Given the description of an element on the screen output the (x, y) to click on. 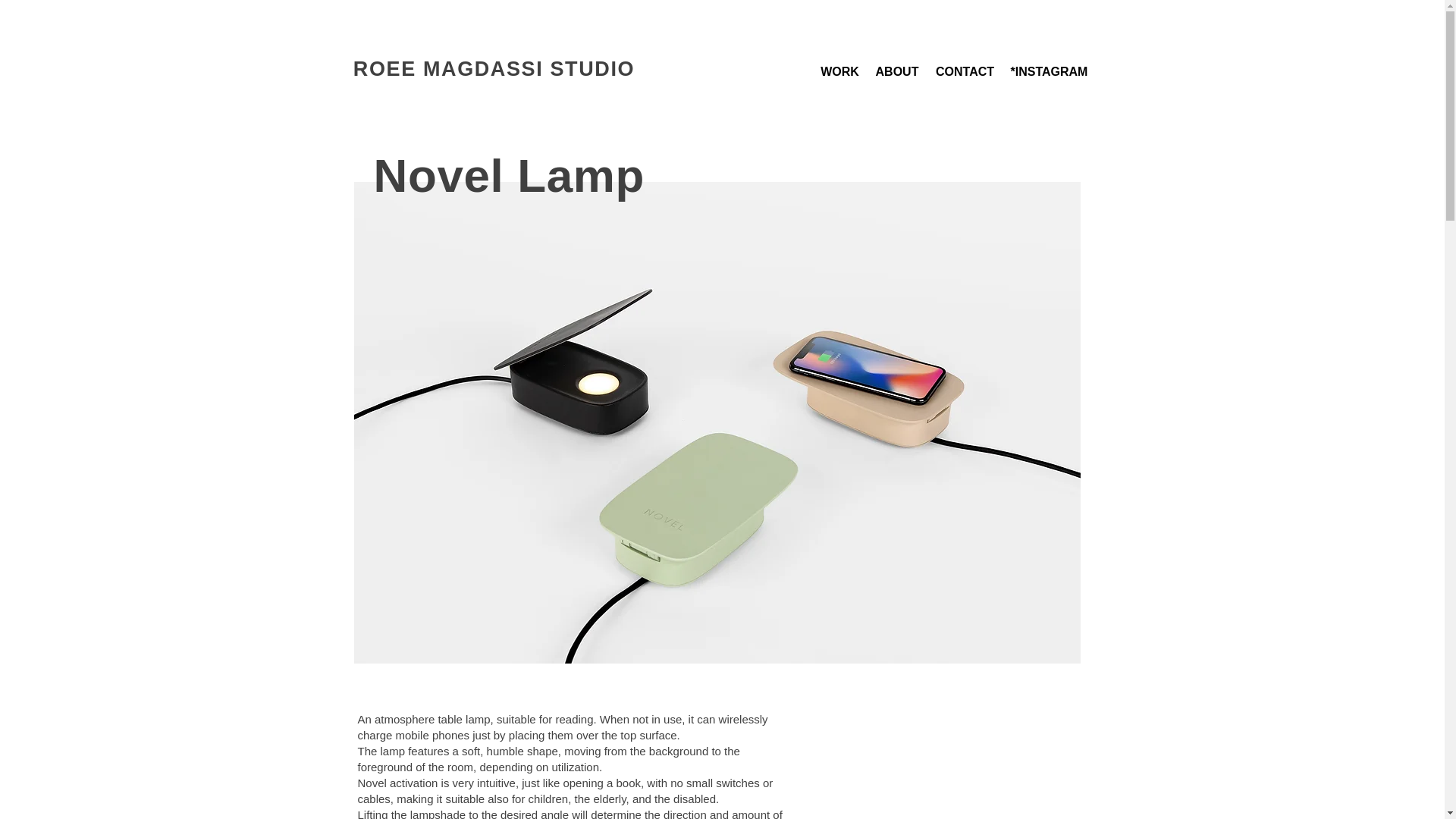
ROEE MAGDASSI STUDIO (493, 68)
WORK (839, 71)
ABOUT (897, 71)
CONTACT (964, 71)
